Given the description of an element on the screen output the (x, y) to click on. 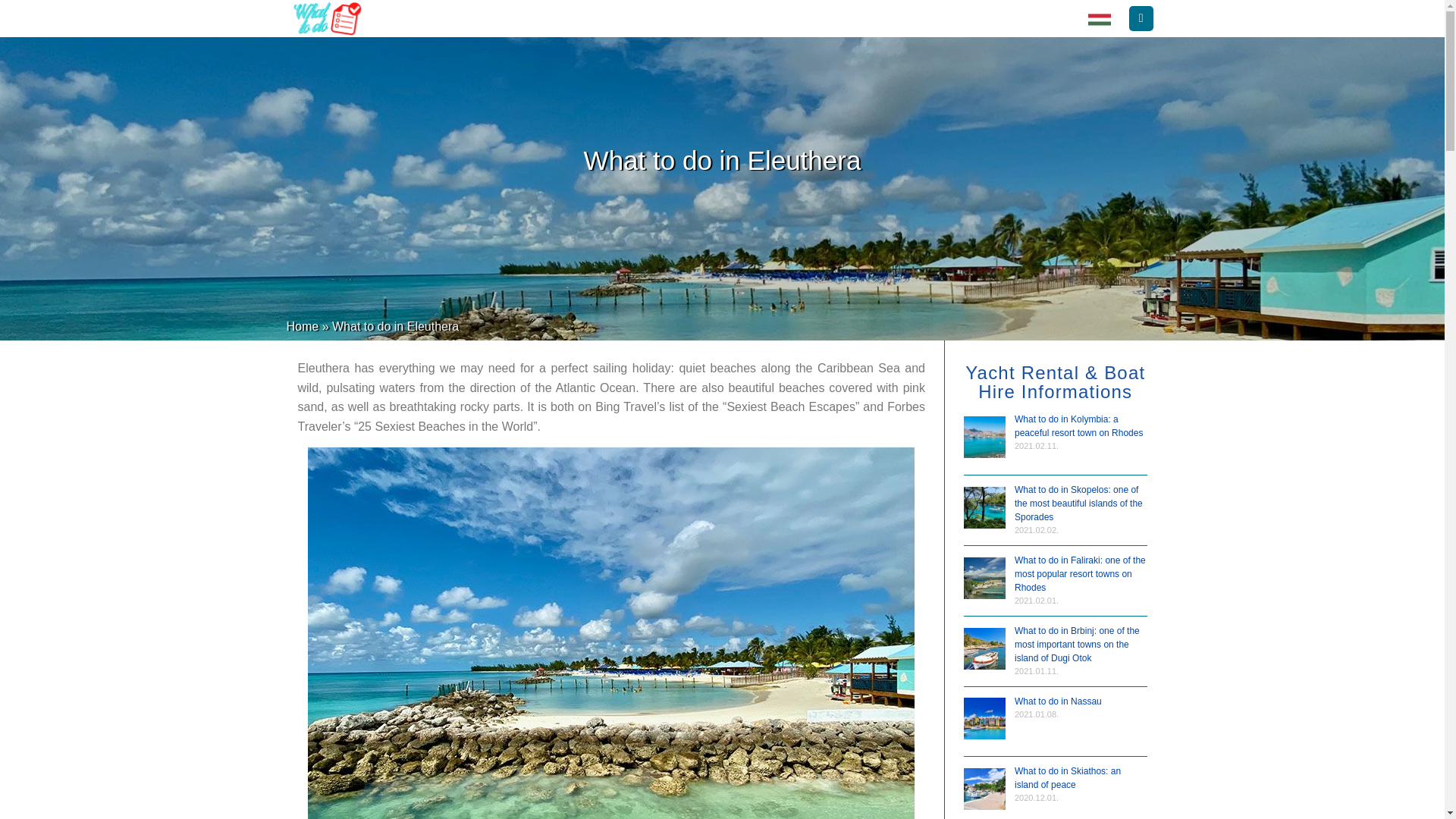
CARIBBEAN YACHT CHARTER (797, 17)
WHAT TO DO IN CARIBBEAN (459, 18)
Home (302, 326)
What to do in holiday (1098, 17)
WHAT TO DO IN MEDITERRANEAN (628, 18)
MEDITERRANEAN YACHT CHARTER (967, 17)
